Given the description of an element on the screen output the (x, y) to click on. 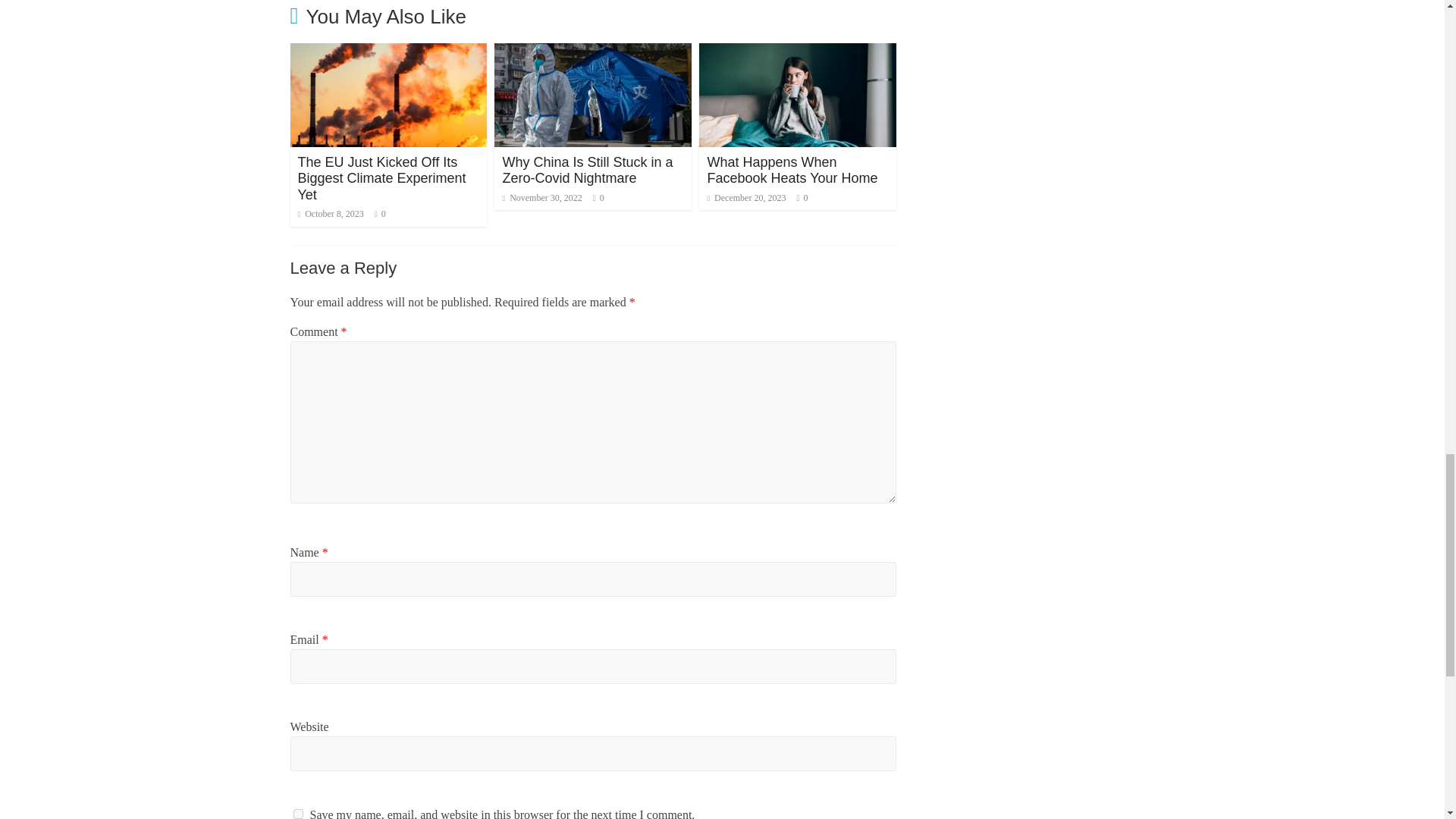
The EU Just Kicked Off Its Biggest Climate Experiment Yet (387, 51)
October 8, 2023 (329, 213)
Why China Is Still Stuck in a Zero-Covid Nightmare (587, 170)
The EU Just Kicked Off Its Biggest Climate Experiment Yet (381, 178)
The EU Just Kicked Off Its Biggest Climate Experiment Yet (381, 178)
Why China Is Still Stuck in a Zero-Covid Nightmare (593, 51)
yes (297, 814)
11:00 pm (329, 213)
Why China Is Still Stuck in a Zero-Covid Nightmare (587, 170)
